Given the description of an element on the screen output the (x, y) to click on. 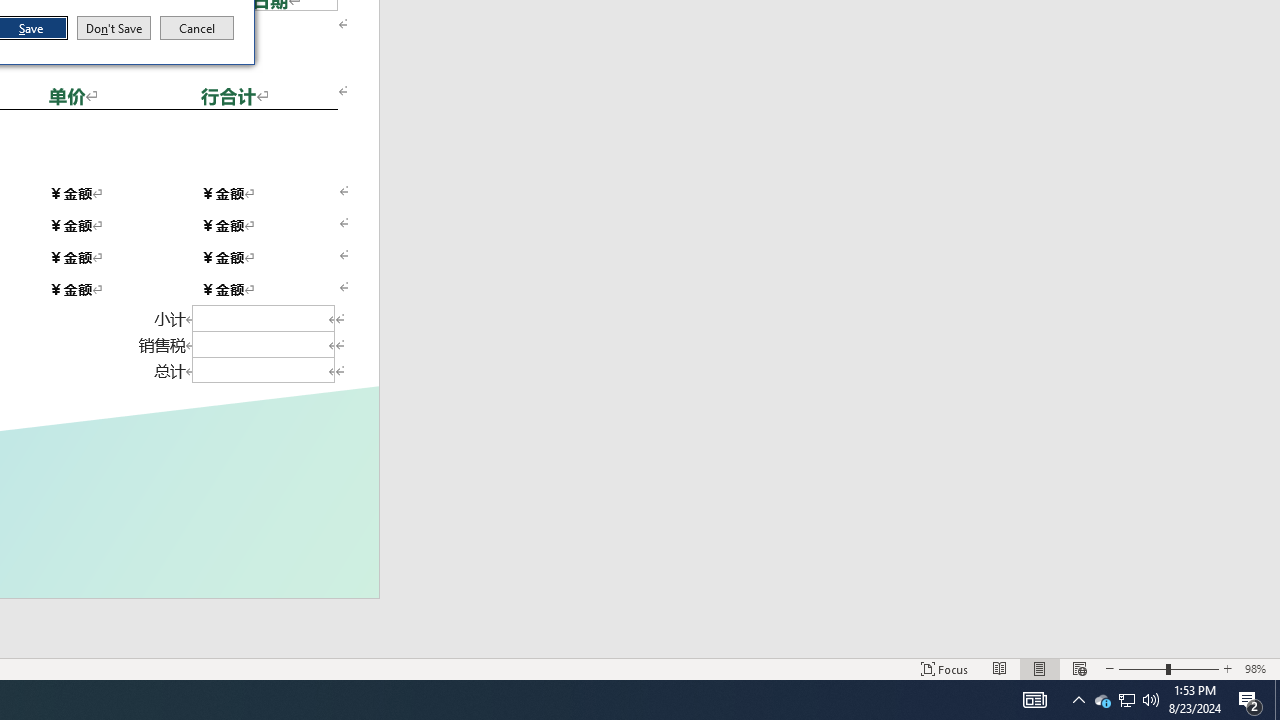
Don't Save (113, 27)
Zoom 98% (1258, 668)
